Given the description of an element on the screen output the (x, y) to click on. 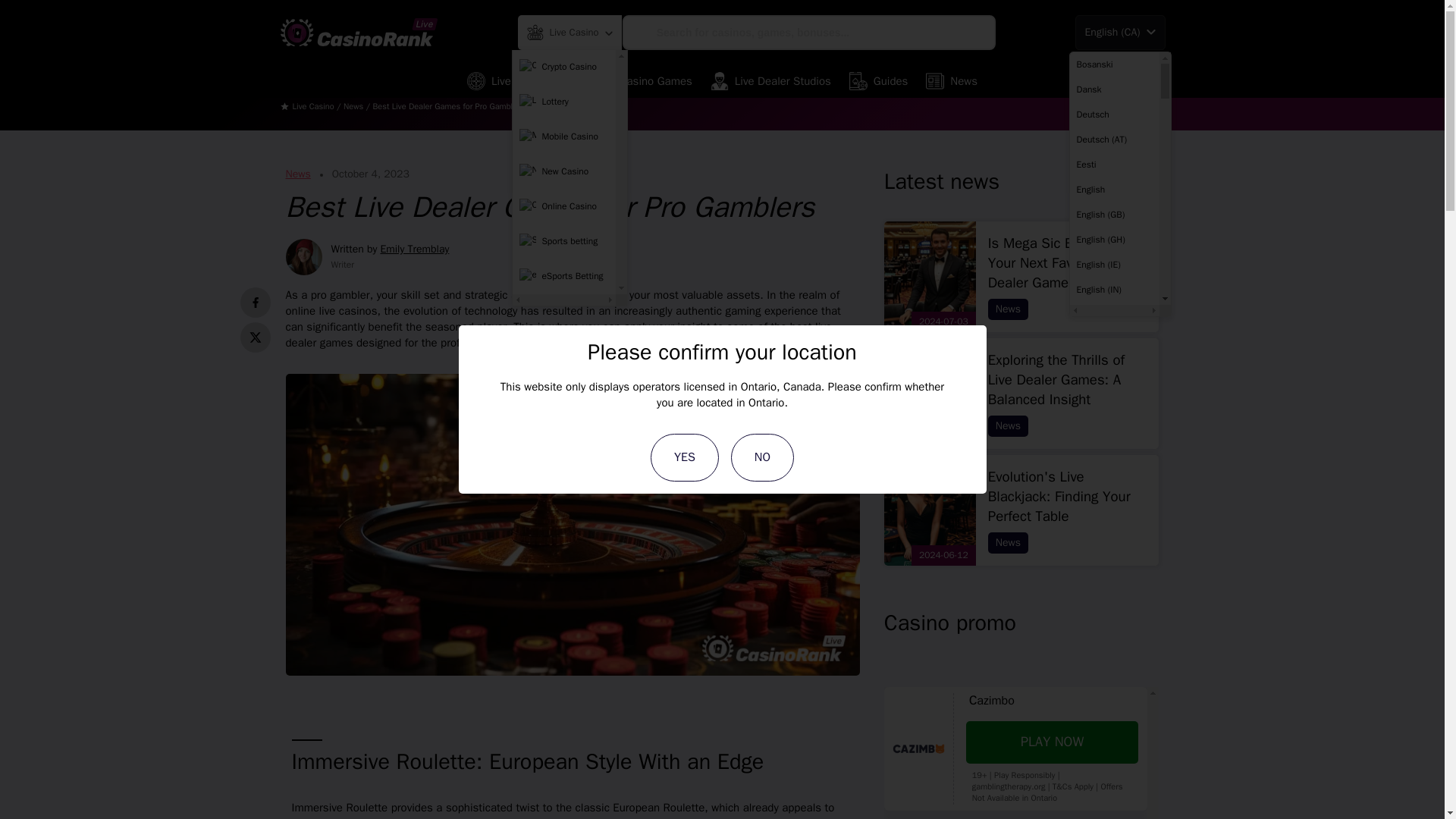
English (1113, 189)
Dansk (1113, 89)
Hrvatski (1113, 810)
Online Casino (563, 206)
New Casino (563, 172)
Bosanski (1113, 63)
eSports Betting (563, 276)
Sports betting (563, 241)
Mobile Casino (563, 136)
Eesti (1113, 163)
Crypto Casino (563, 67)
Deutsch (1113, 113)
Lottery (563, 102)
